Given the description of an element on the screen output the (x, y) to click on. 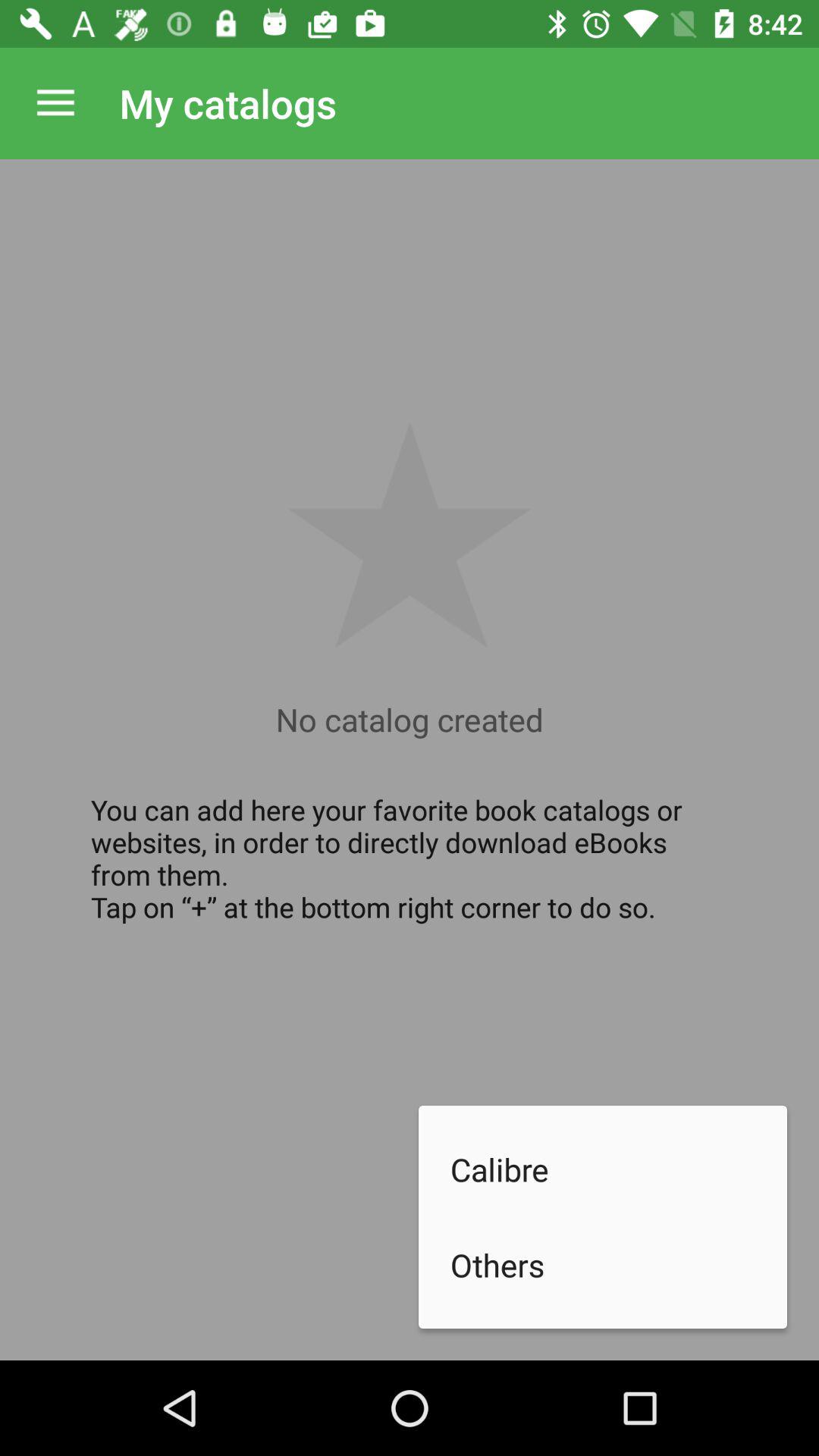
select item above the others icon (618, 1169)
